Given the description of an element on the screen output the (x, y) to click on. 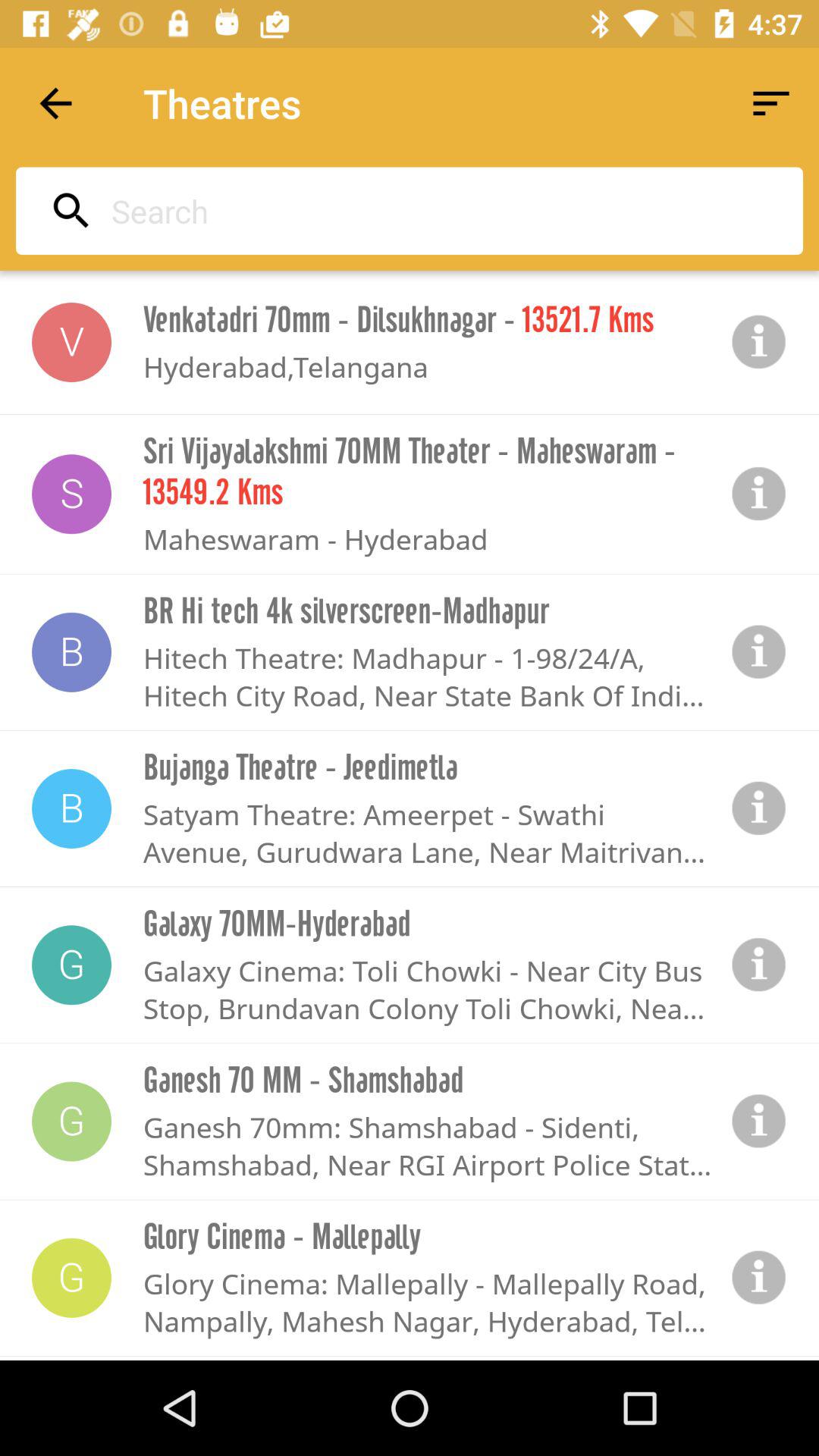
more info (759, 965)
